Given the description of an element on the screen output the (x, y) to click on. 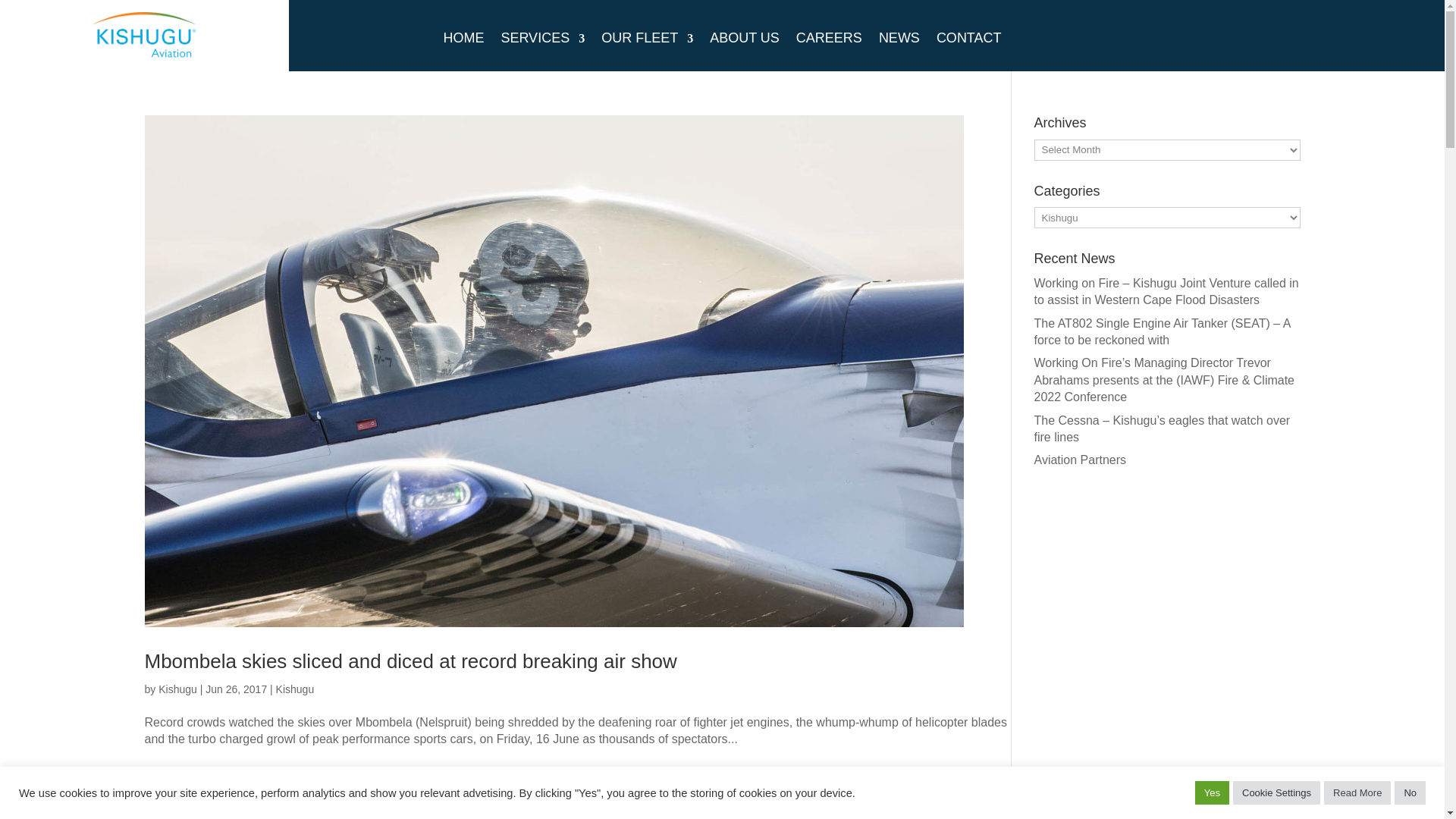
HOME (462, 41)
CONTACT (968, 41)
ABOUT US (744, 41)
NEWS (899, 41)
Posts by Kishugu (177, 689)
CAREERS (828, 41)
SERVICES (542, 41)
OUR FLEET (647, 41)
